Given the description of an element on the screen output the (x, y) to click on. 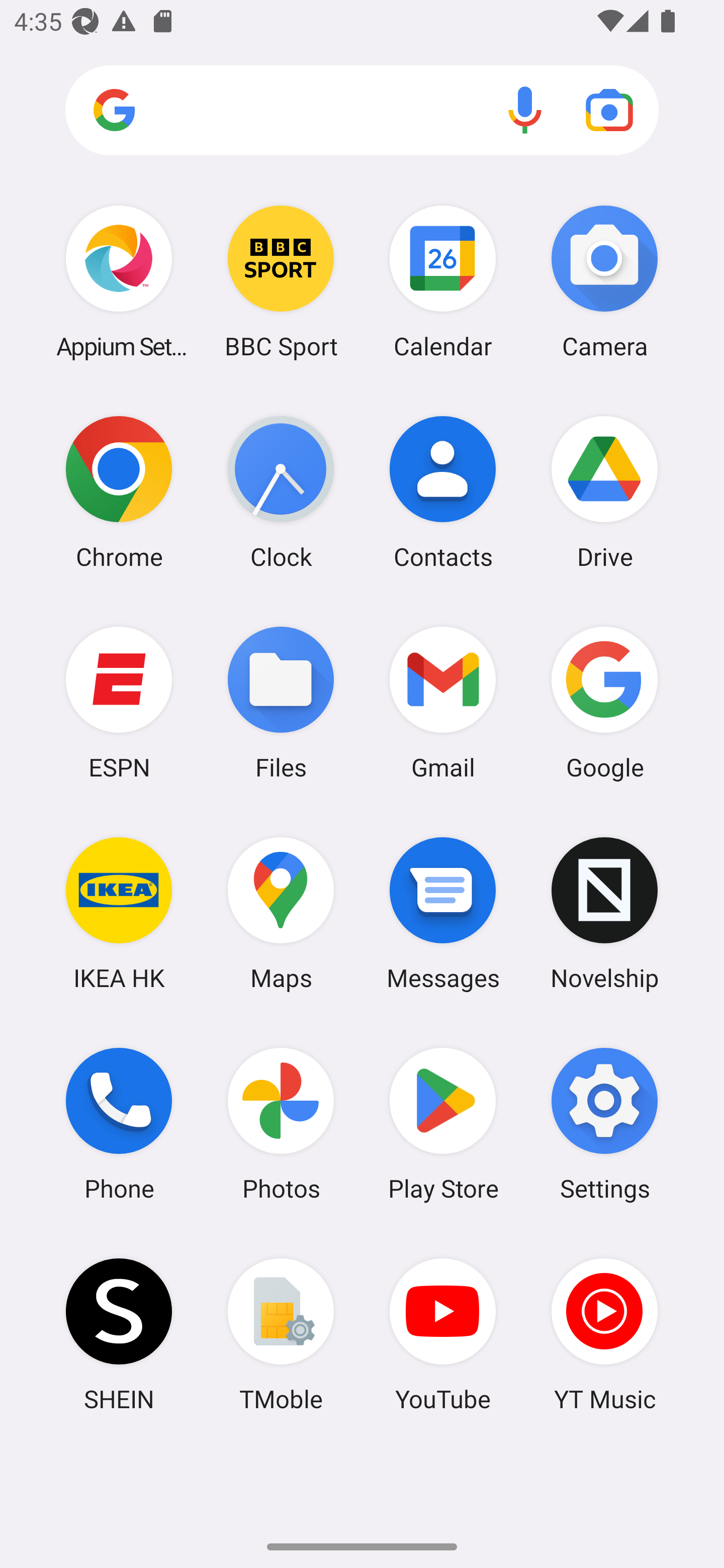
Search apps, web and more (361, 110)
Voice search (524, 109)
Google Lens (608, 109)
Appium Settings (118, 281)
BBC Sport (280, 281)
Calendar (443, 281)
Camera (604, 281)
Chrome (118, 492)
Clock (280, 492)
Contacts (443, 492)
Drive (604, 492)
ESPN (118, 702)
Files (280, 702)
Gmail (443, 702)
Google (604, 702)
IKEA HK (118, 913)
Maps (280, 913)
Messages (443, 913)
Novelship (604, 913)
Phone (118, 1124)
Photos (280, 1124)
Play Store (443, 1124)
Settings (604, 1124)
SHEIN (118, 1334)
TMoble (280, 1334)
YouTube (443, 1334)
YT Music (604, 1334)
